Given the description of an element on the screen output the (x, y) to click on. 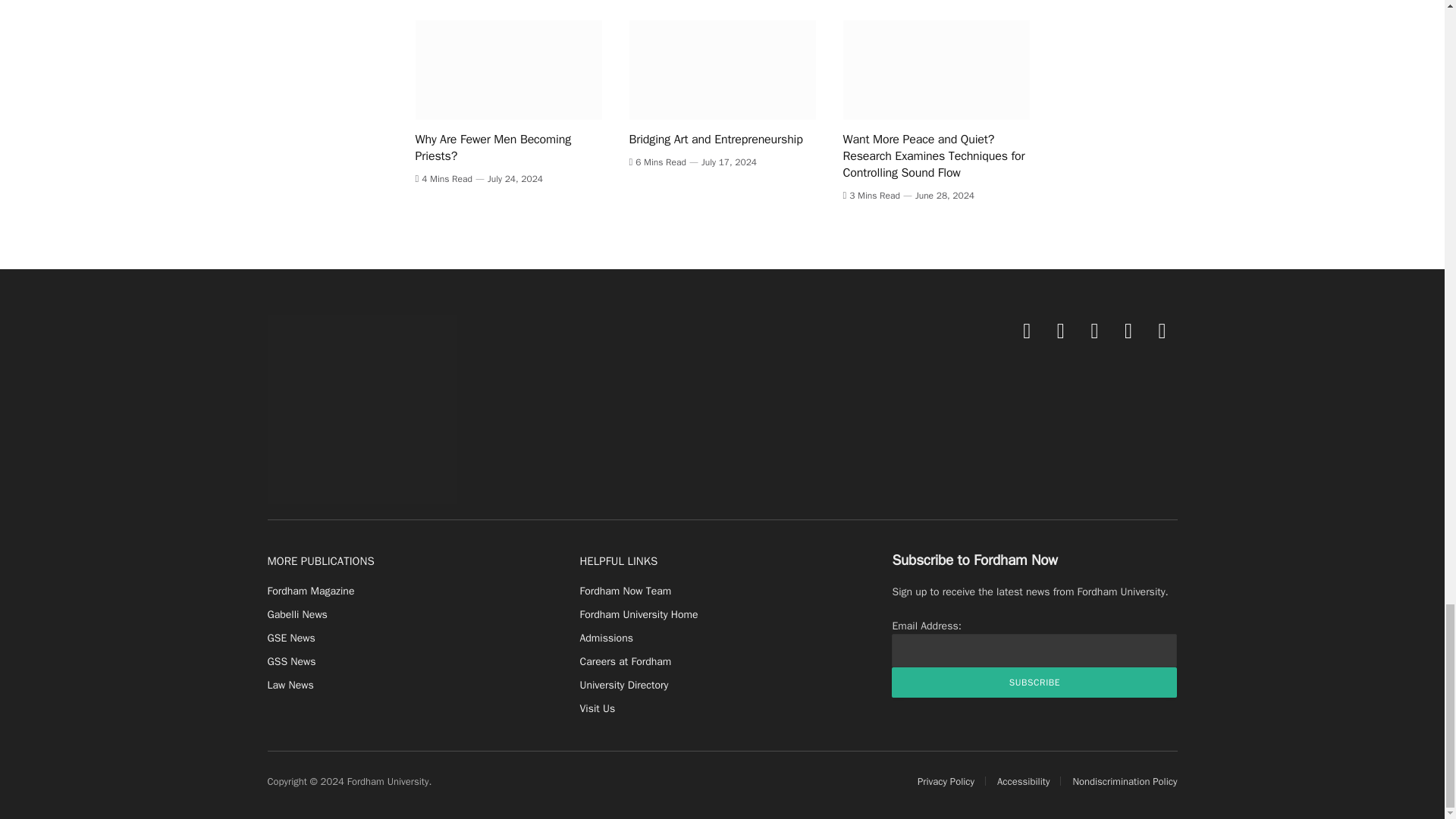
Bridging Art and Entrepreneurship (721, 69)
Subscribe (1033, 682)
Why Are Fewer Men Becoming Priests? (508, 69)
